Given the description of an element on the screen output the (x, y) to click on. 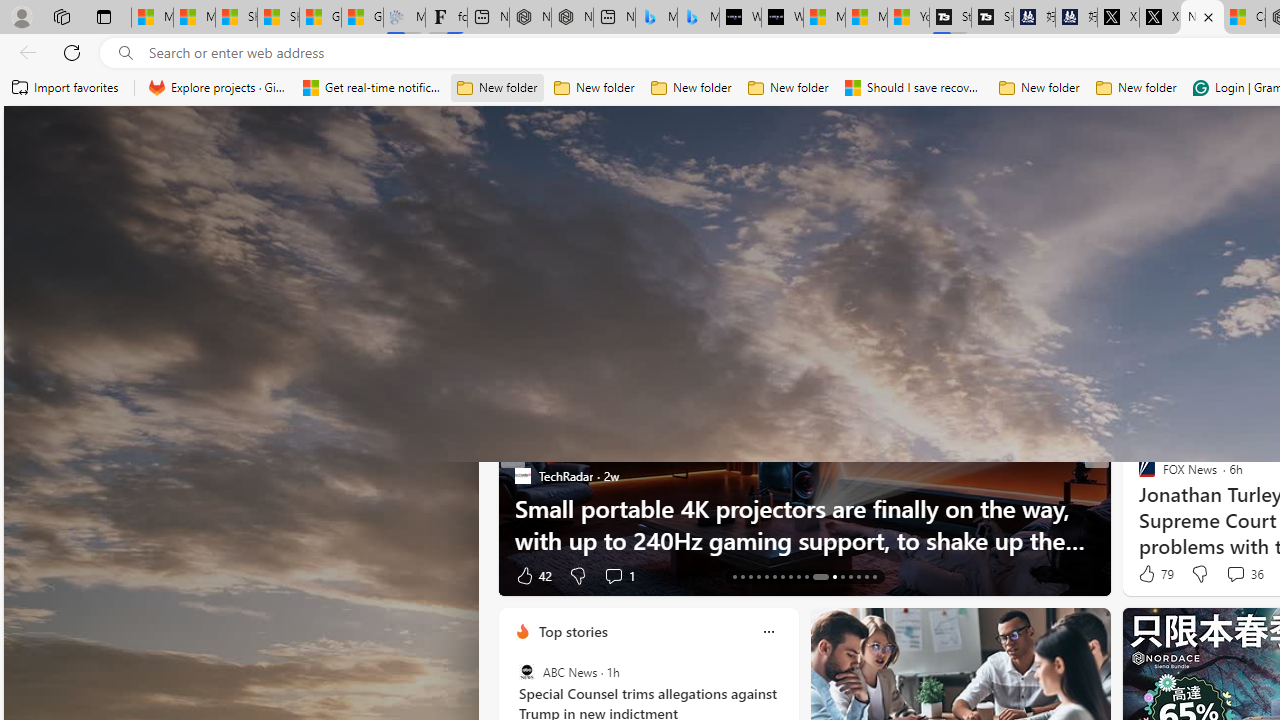
40 Like (1149, 574)
Microsoft Bing Travel - Stays in Bangkok, Bangkok, Thailand (656, 17)
Microsoft Start Sports (823, 17)
Forge of Empires (1175, 507)
Refresh (72, 52)
New folder (1136, 88)
Play (817, 265)
AutomationID: tab-21 (797, 576)
Discover (538, 265)
Weather (1019, 267)
AutomationID: tab-39 (865, 576)
AutomationID: tab-23 (814, 576)
